Given the description of an element on the screen output the (x, y) to click on. 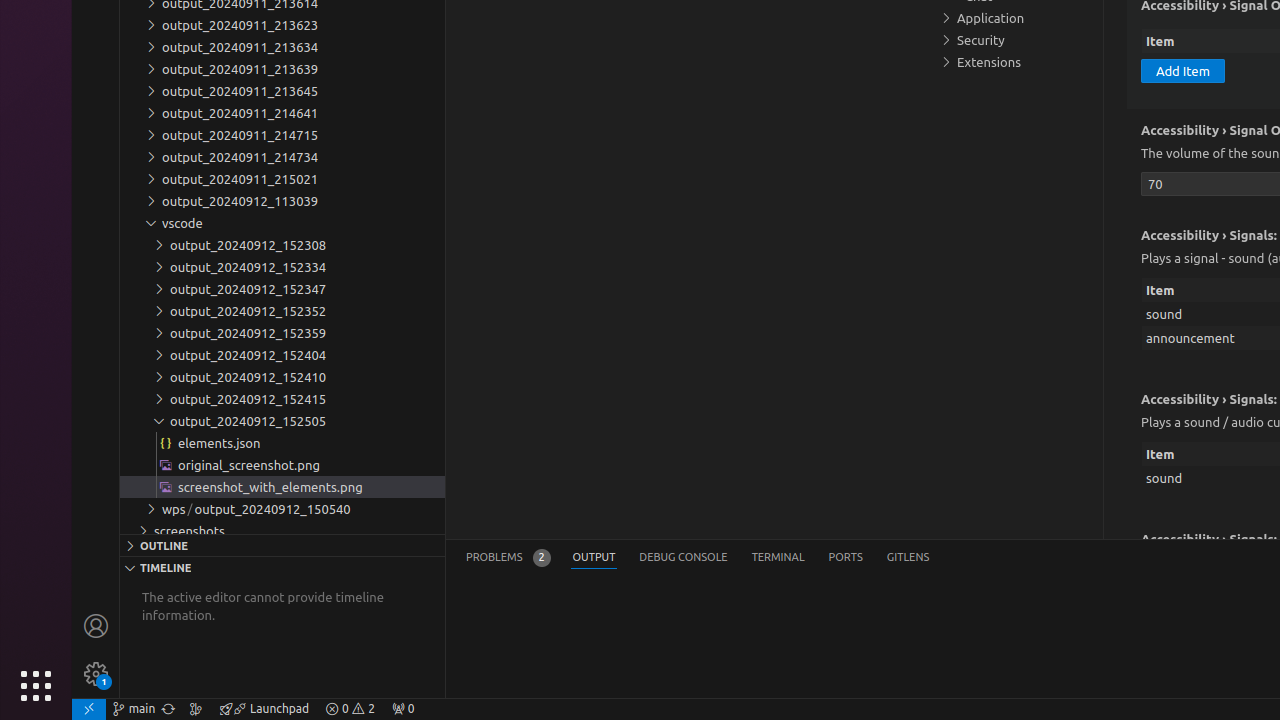
Security, group Element type: tree-item (1015, 40)
Problems (Ctrl+Shift+M) - Total 2 Problems Element type: page-tab (507, 557)
Outline Section Element type: push-button (282, 545)
output_20240912_150540, compact, wps Element type: tree-item (272, 509)
rocket gitlens-unplug Launchpad, GitLens Launchpad ᴘʀᴇᴠɪᴇᴡ    &mdash;    [$(question)](command:gitlens.launchpad.indicator.action?%22info%22 "What is this?") [$(gear)](command:workbench.action.openSettings?%22gitlens.launchpad%22 "Settings")  |  [$(circle-slash) Hide](command:gitlens.launchpad.indicator.action?%22hide%22 "Hide") --- [Launchpad](command:gitlens.launchpad.indicator.action?%info%22 "Learn about Launchpad") organizes your pull requests into actionable groups to help you focus and keep your team unblocked. It's always accessible using the `GitLens: Open Launchpad` command from the Command Palette. --- [Connect an integration](command:gitlens.showLaunchpad?%7B%22source%22%3A%22launchpad-indicator%22%7D "Connect an integration") to get started. Element type: push-button (264, 709)
